Given the description of an element on the screen output the (x, y) to click on. 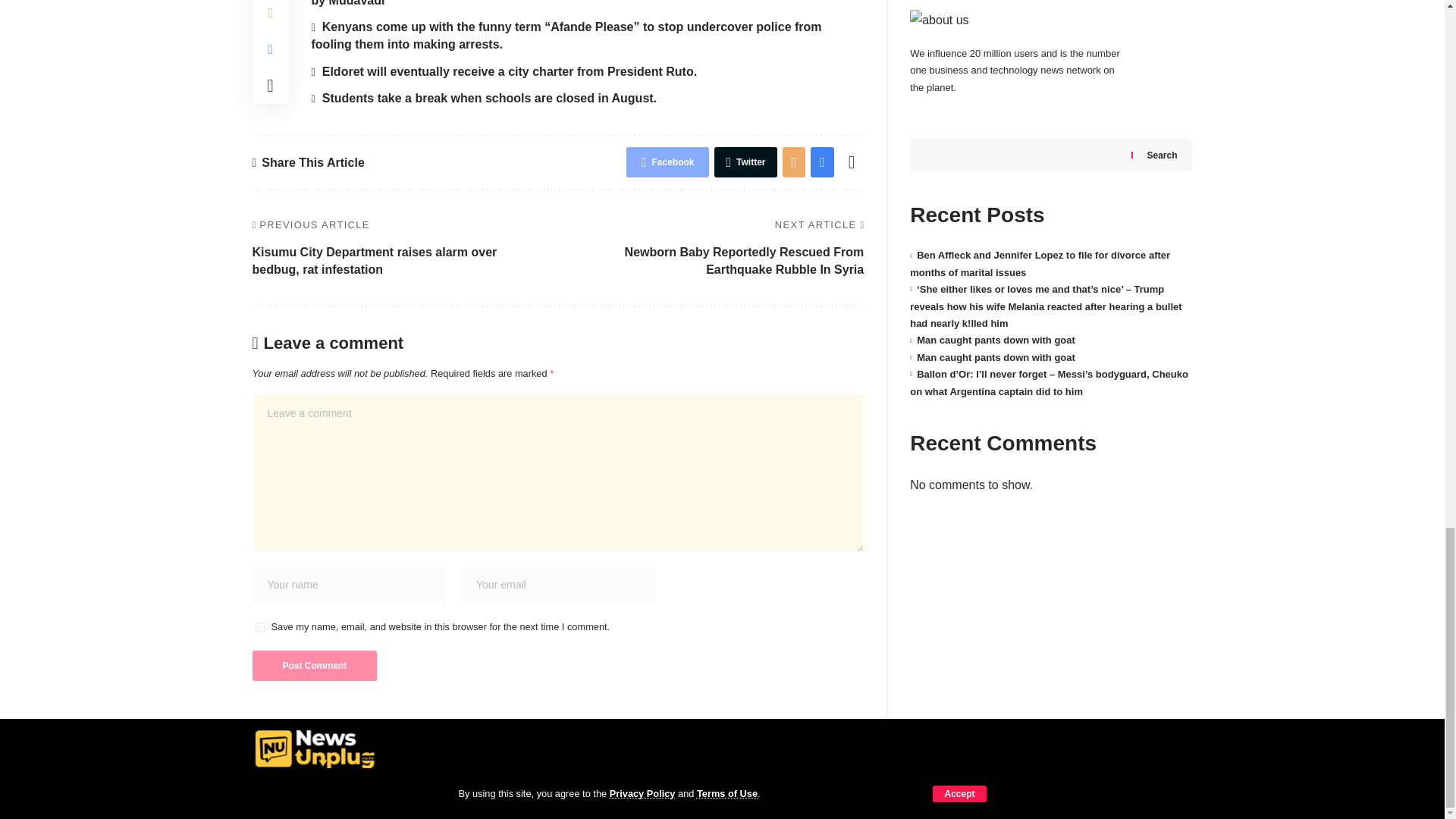
Newsunplug Kenya (314, 749)
yes (259, 627)
Post Comment (314, 665)
